Given the description of an element on the screen output the (x, y) to click on. 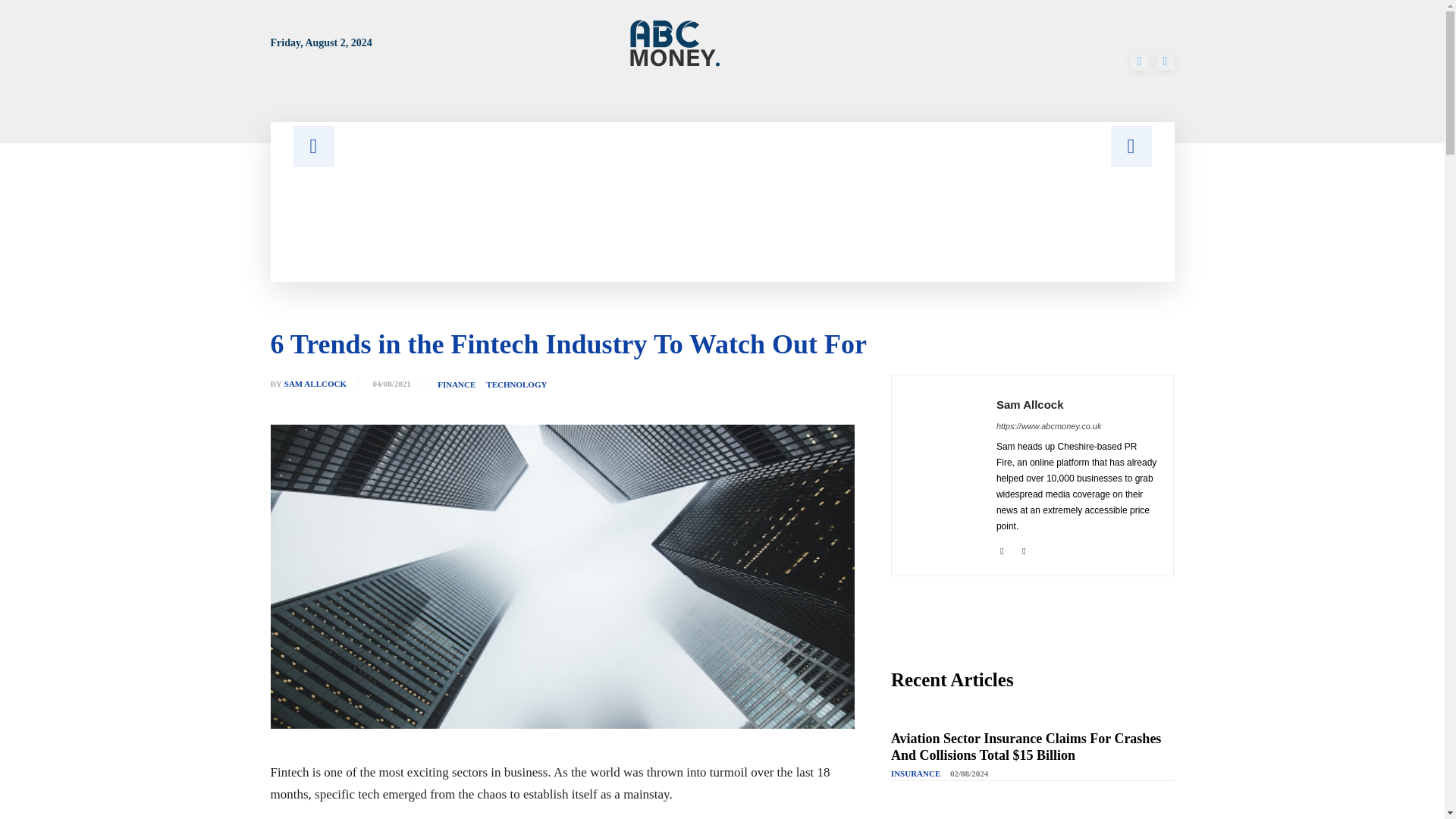
Linkedin (1001, 548)
Twitter (1164, 60)
Facebook (1138, 60)
Twitter (1023, 548)
TECHNOLOGY (516, 384)
SAM ALLCOCK (314, 384)
FINANCE (457, 384)
